Given the description of an element on the screen output the (x, y) to click on. 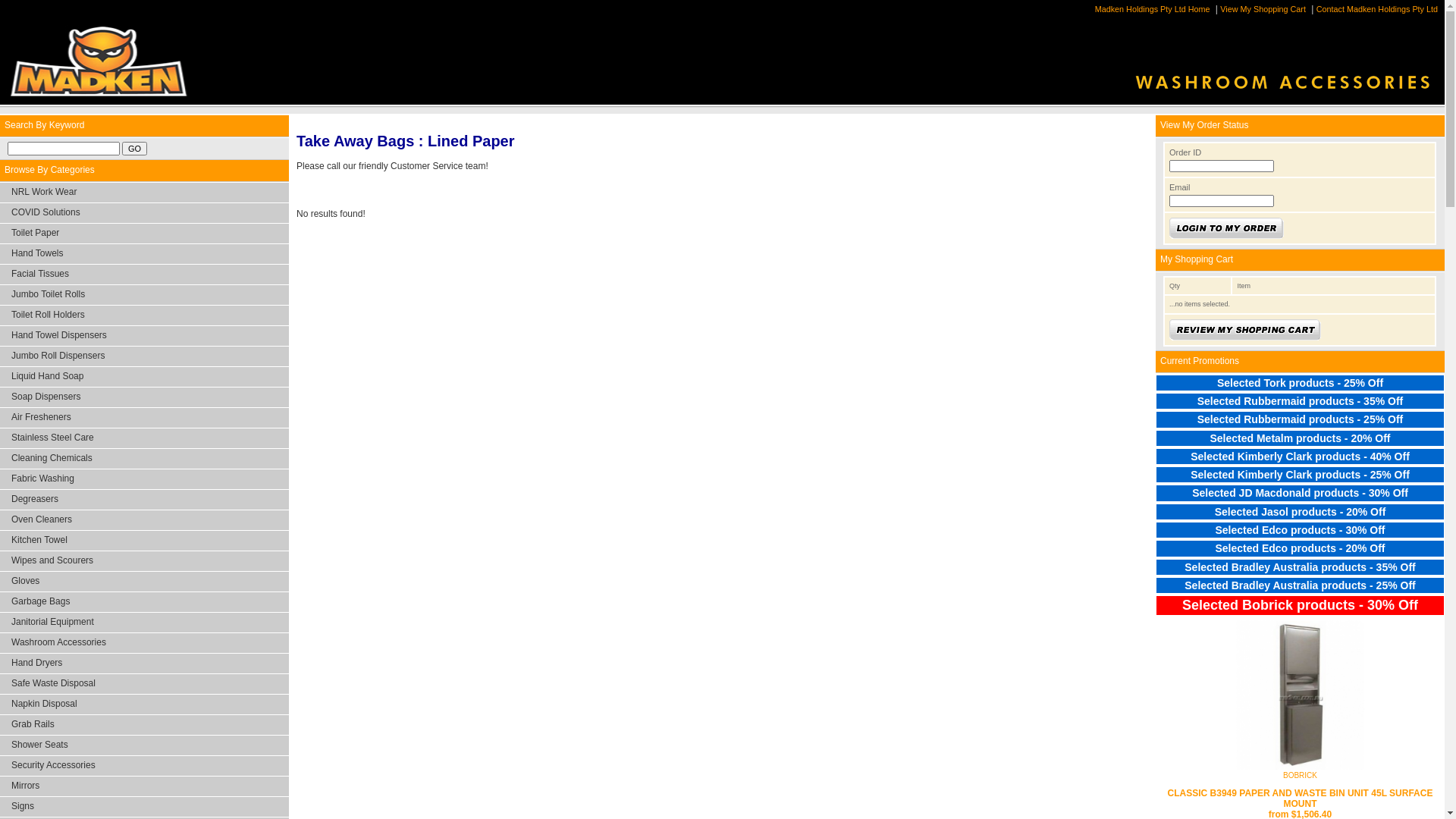
Selected Bradley Australia products - 35% Off Element type: text (1299, 566)
Selected Jasol products - 20% Off Element type: text (1299, 511)
Toilet Paper Element type: text (144, 233)
Madken Holdings Pty Ltd Home Element type: text (1154, 8)
Hand Towel Dispensers Element type: text (144, 335)
Facial Tissues Element type: text (144, 274)
Security Accessories Element type: text (144, 765)
Air Fresheners Element type: text (144, 417)
Gloves Element type: text (144, 581)
Stainless Steel Care Element type: text (144, 438)
Liquid Hand Soap Element type: text (144, 376)
Selected Bradley Australia products - 25% Off Element type: text (1299, 585)
NRL Work Wear Element type: text (144, 192)
Browse By Categories Element type: text (144, 171)
Cleaning Chemicals Element type: text (144, 458)
Jumbo Roll Dispensers Element type: text (144, 356)
Selected Rubbermaid products - 25% Off Element type: text (1299, 419)
Washroom Accessories Element type: text (144, 642)
COVID Solutions Element type: text (144, 212)
Selected JD Macdonald products - 30% Off Element type: text (1299, 492)
Toilet Roll Holders Element type: text (144, 315)
Selected Kimberly Clark products - 25% Off Element type: text (1299, 474)
Selected Edco products - 30% Off Element type: text (1299, 529)
Grab Rails Element type: text (144, 724)
Oven Cleaners Element type: text (144, 520)
Contact Madken Holdings Pty Ltd Element type: text (1378, 8)
Wipes and Scourers Element type: text (144, 561)
Kitchen Towel Element type: text (144, 540)
Soap Dispensers Element type: text (144, 397)
Selected Edco products - 20% Off Element type: text (1299, 547)
Napkin Disposal Element type: text (144, 704)
Mirrors Element type: text (144, 786)
Garbage Bags Element type: text (144, 601)
Selected Rubbermaid products - 35% Off Element type: text (1299, 400)
Selected Bobrick products - 20% Off Element type: text (1299, 624)
Degreasers Element type: text (144, 499)
Hand Dryers Element type: text (144, 663)
Selected Kimberly Clark products - 40% Off Element type: text (1299, 456)
Hand Towels Element type: text (144, 253)
View My Shopping Cart Element type: text (1264, 8)
Janitorial Equipment Element type: text (144, 622)
Safe Waste Disposal Element type: text (144, 683)
Shower Seats Element type: text (144, 745)
Selected Tork products - 25% Off Element type: text (1299, 382)
GO Element type: text (134, 148)
Signs Element type: text (144, 806)
Selected Bobrick products - 30% Off Element type: text (1299, 603)
Jumbo Toilet Rolls Element type: text (144, 294)
Fabric Washing Element type: text (144, 479)
Selected Metalm products - 20% Off Element type: text (1299, 437)
